Given the description of an element on the screen output the (x, y) to click on. 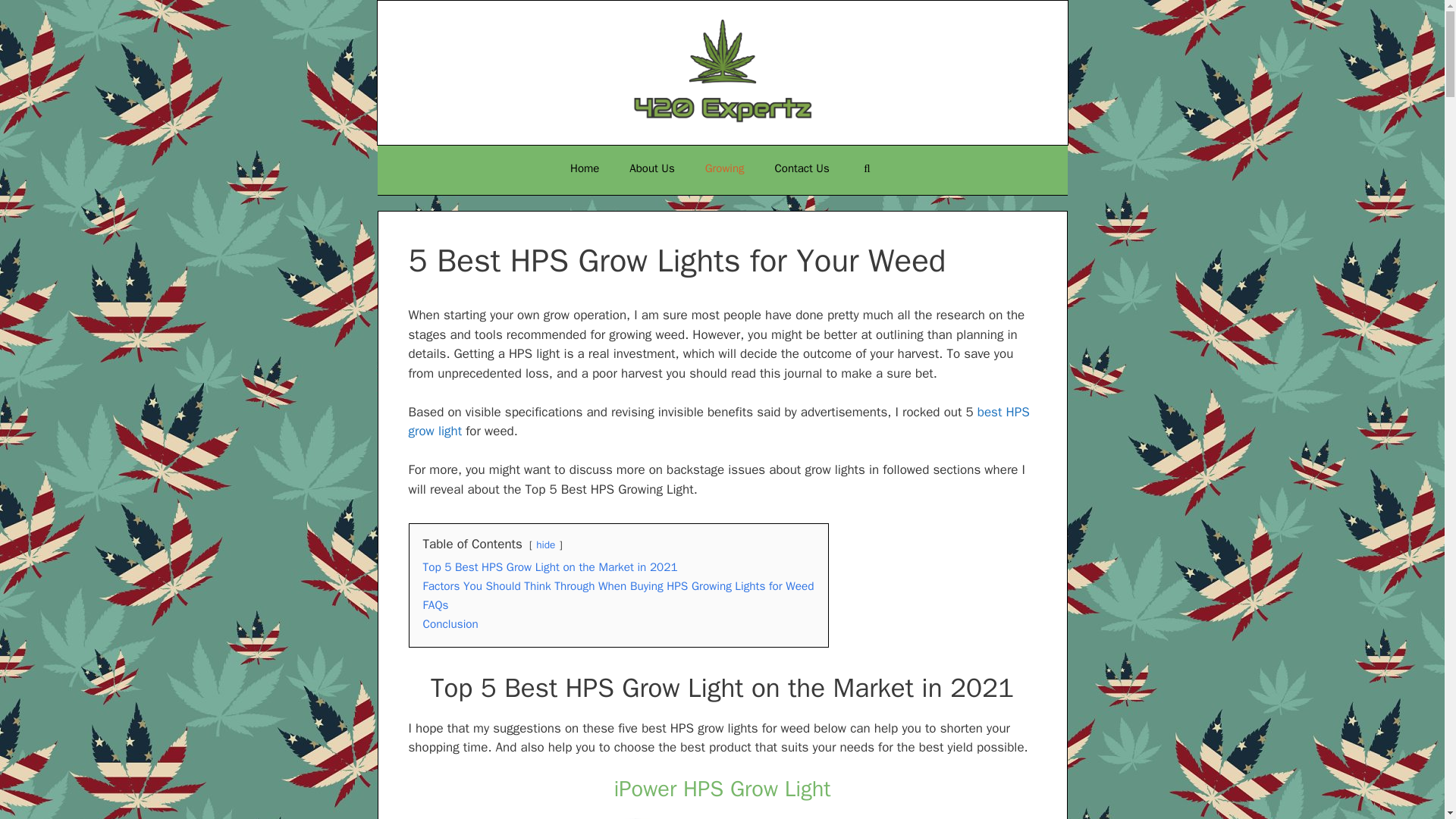
Contact Us (802, 167)
Top 5 Best HPS Grow Light on the Market in 2021 (550, 566)
FAQs (435, 604)
hide (544, 544)
Growing (725, 167)
Conclusion (451, 623)
Home (584, 167)
best HPS grow light (718, 421)
About Us (651, 167)
